Given the description of an element on the screen output the (x, y) to click on. 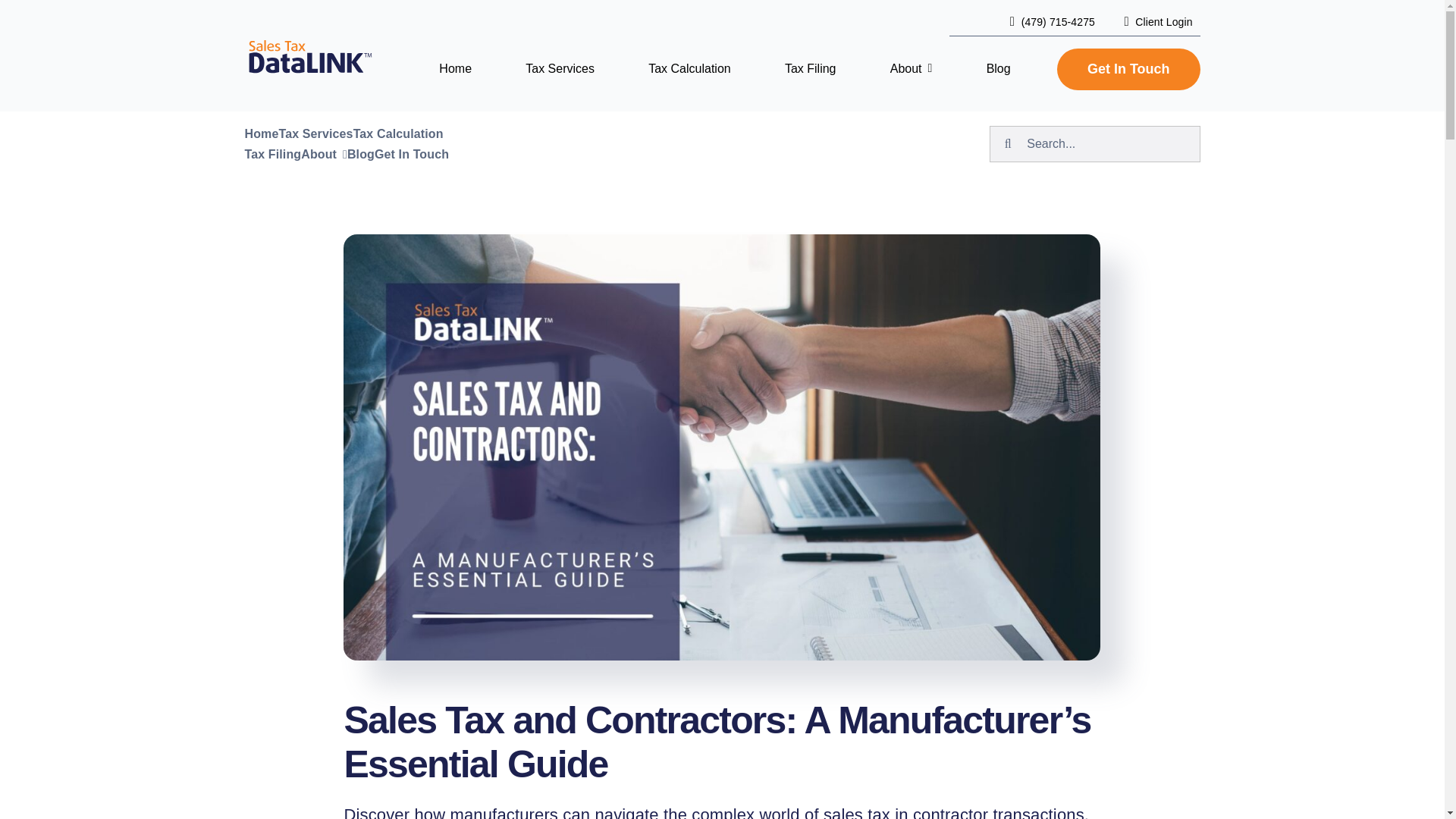
Tax Services (315, 133)
About (911, 69)
Tax Filing (810, 69)
Tax Calculation (398, 133)
About (318, 154)
Client Login (1154, 22)
Home (261, 133)
Blog (997, 69)
Tax Calculation (689, 69)
Home (454, 69)
Tax Filing (272, 154)
Get In Touch (1128, 69)
Tax Services (560, 69)
